Given the description of an element on the screen output the (x, y) to click on. 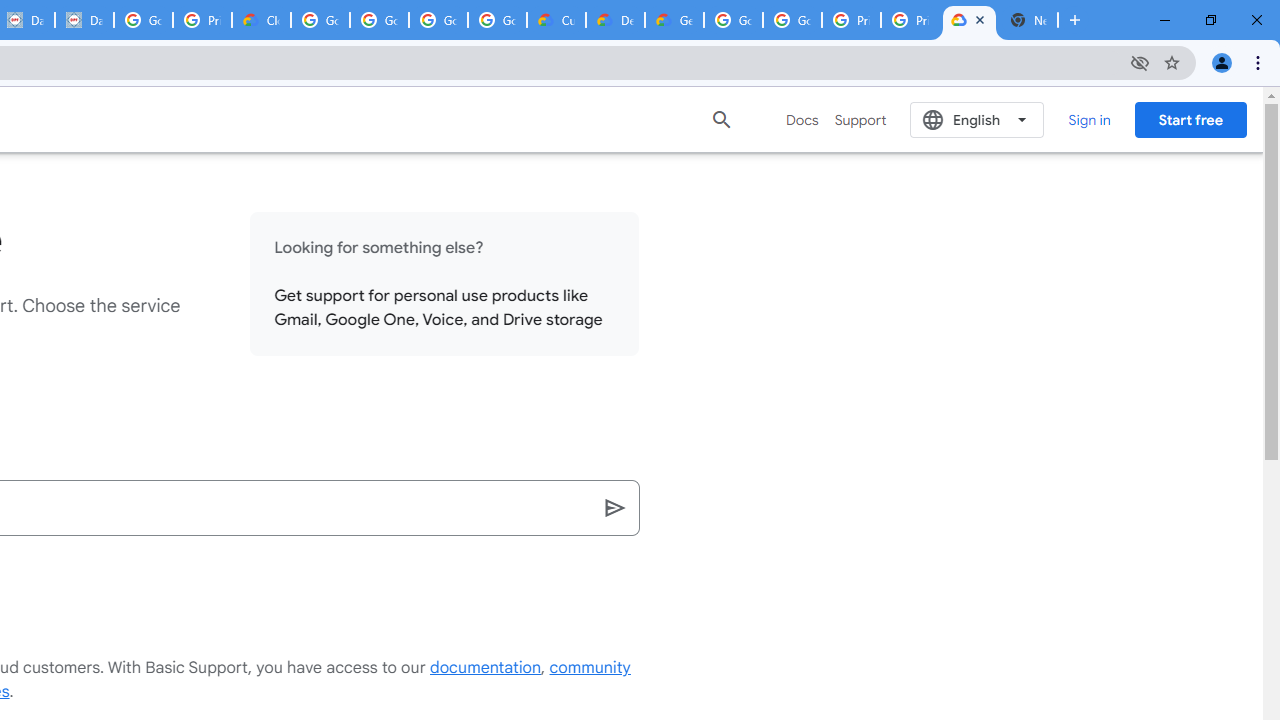
Support Hub | Google Cloud (969, 20)
Cloud Data Processing Addendum | Google Cloud (260, 20)
Data Privacy Framework (84, 20)
Docs (802, 119)
Google Cloud Platform (791, 20)
Customer Care | Google Cloud (556, 20)
